Given the description of an element on the screen output the (x, y) to click on. 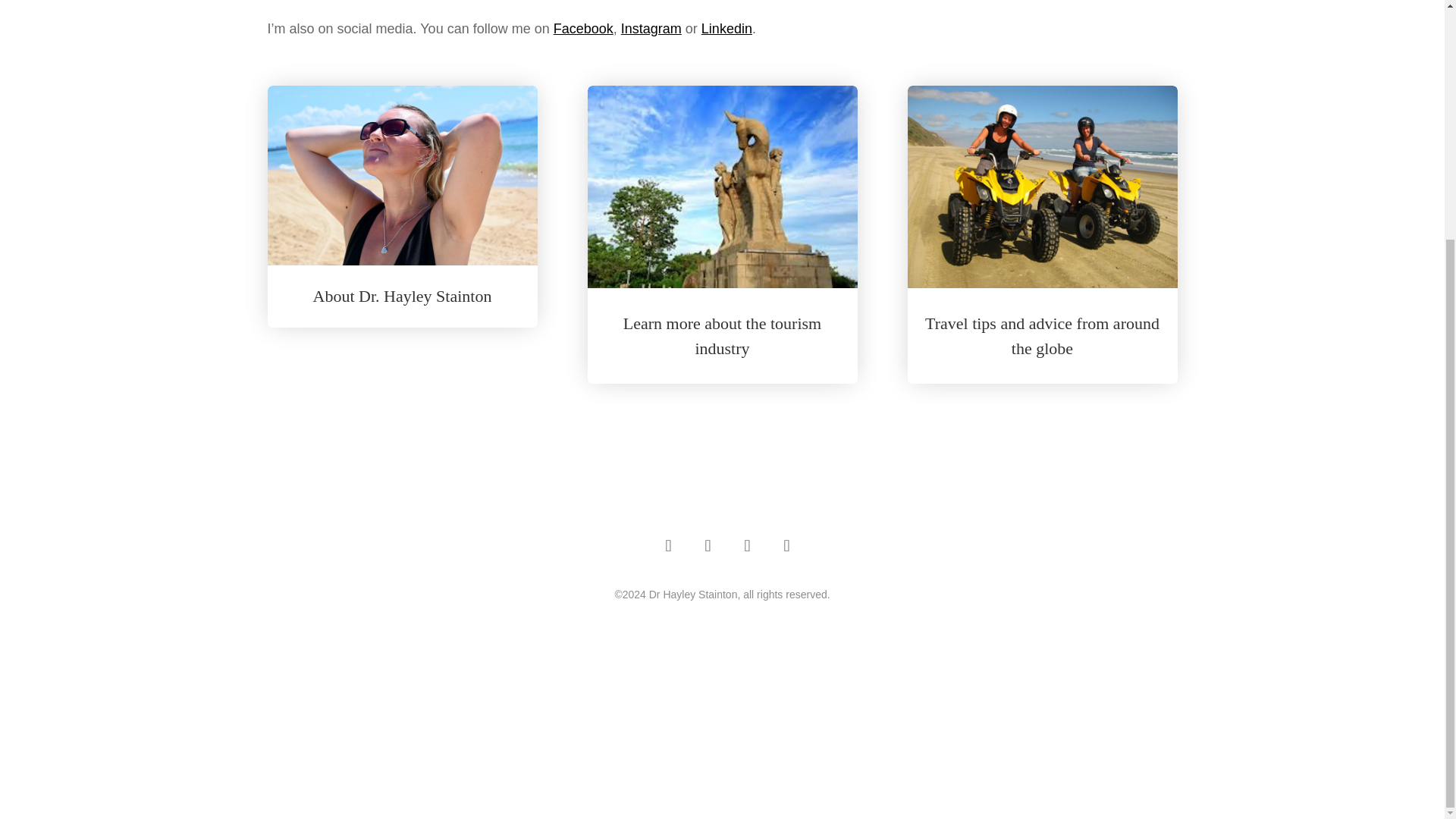
Instagram (651, 28)
Follow on Instagram (747, 545)
Travel tips and advice from around the globe (1041, 335)
Facebook (582, 28)
Follow on X (708, 545)
Follow on LinkedIn (786, 545)
Linkedin (726, 28)
Follow on Facebook (668, 545)
About Dr. Hayley Stainton (402, 295)
Learn more about the tourism industry (722, 335)
